Given the description of an element on the screen output the (x, y) to click on. 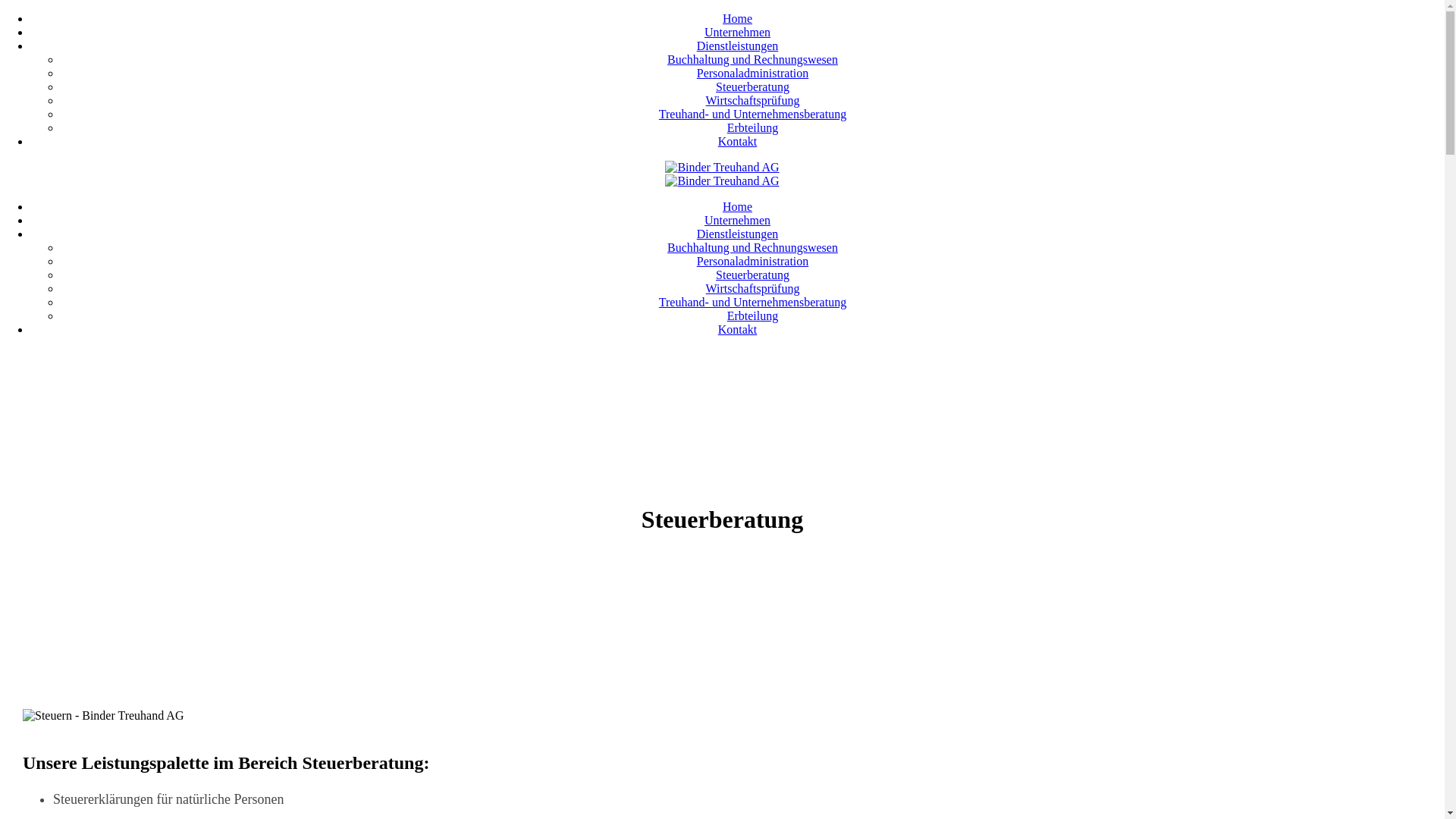
Home Element type: text (737, 206)
Buchhaltung und Rechnungswesen Element type: text (752, 247)
Erbteilung Element type: text (752, 315)
Buchhaltung und Rechnungswesen Element type: text (752, 59)
Steuerberatung Element type: text (752, 86)
Kontakt Element type: text (737, 329)
Steuerberatung Element type: text (752, 274)
Dienstleistungen Element type: text (737, 233)
Home Element type: text (737, 18)
Personaladministration Element type: text (752, 260)
Treuhand- und Unternehmensberatung Element type: text (752, 113)
Kontakt Element type: text (737, 140)
Dienstleistungen Element type: text (737, 45)
Erbteilung Element type: text (752, 127)
Treuhand- und Unternehmensberatung Element type: text (752, 301)
Unternehmen Element type: text (737, 31)
Personaladministration Element type: text (752, 72)
Unternehmen Element type: text (737, 219)
